Given the description of an element on the screen output the (x, y) to click on. 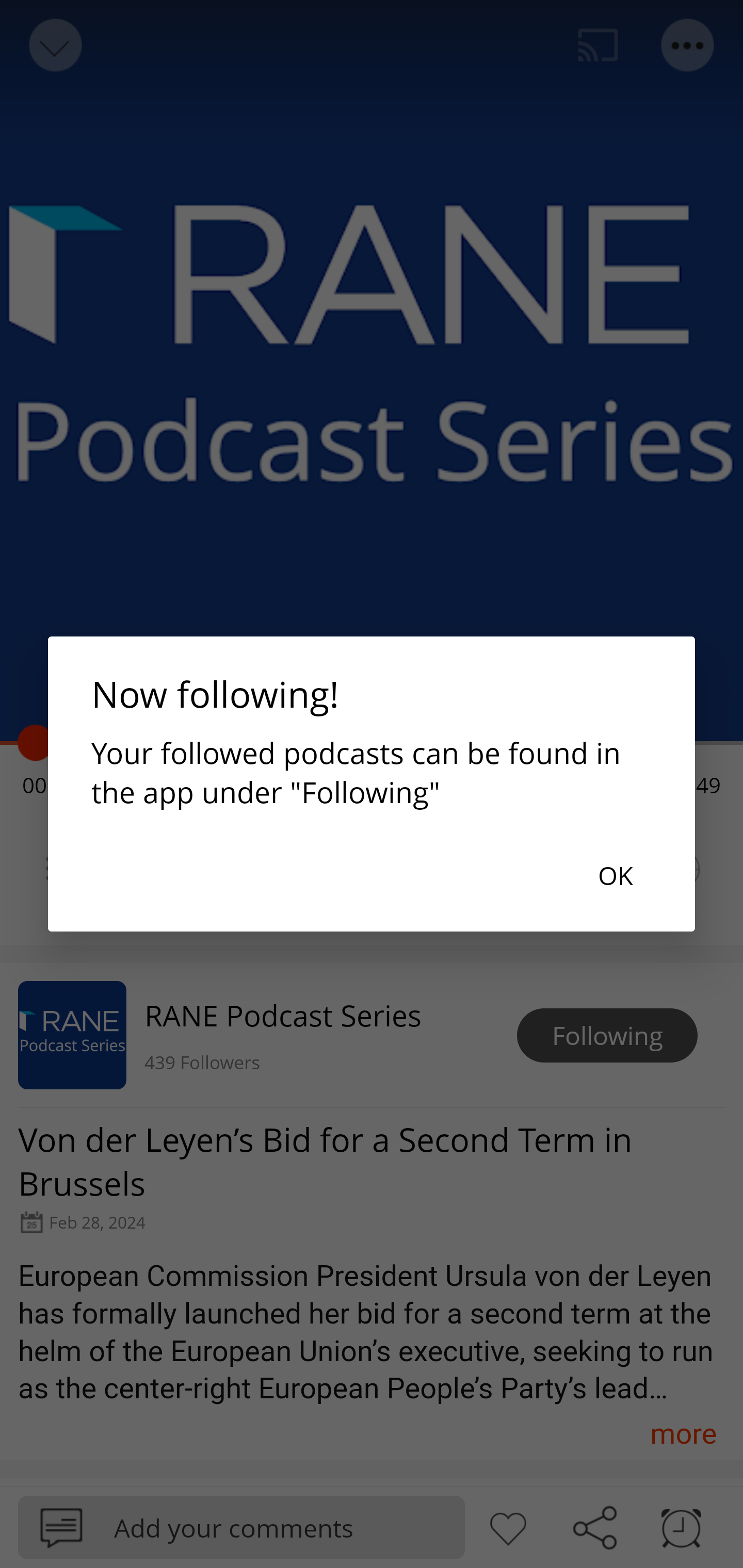
OK (615, 874)
